Given the description of an element on the screen output the (x, y) to click on. 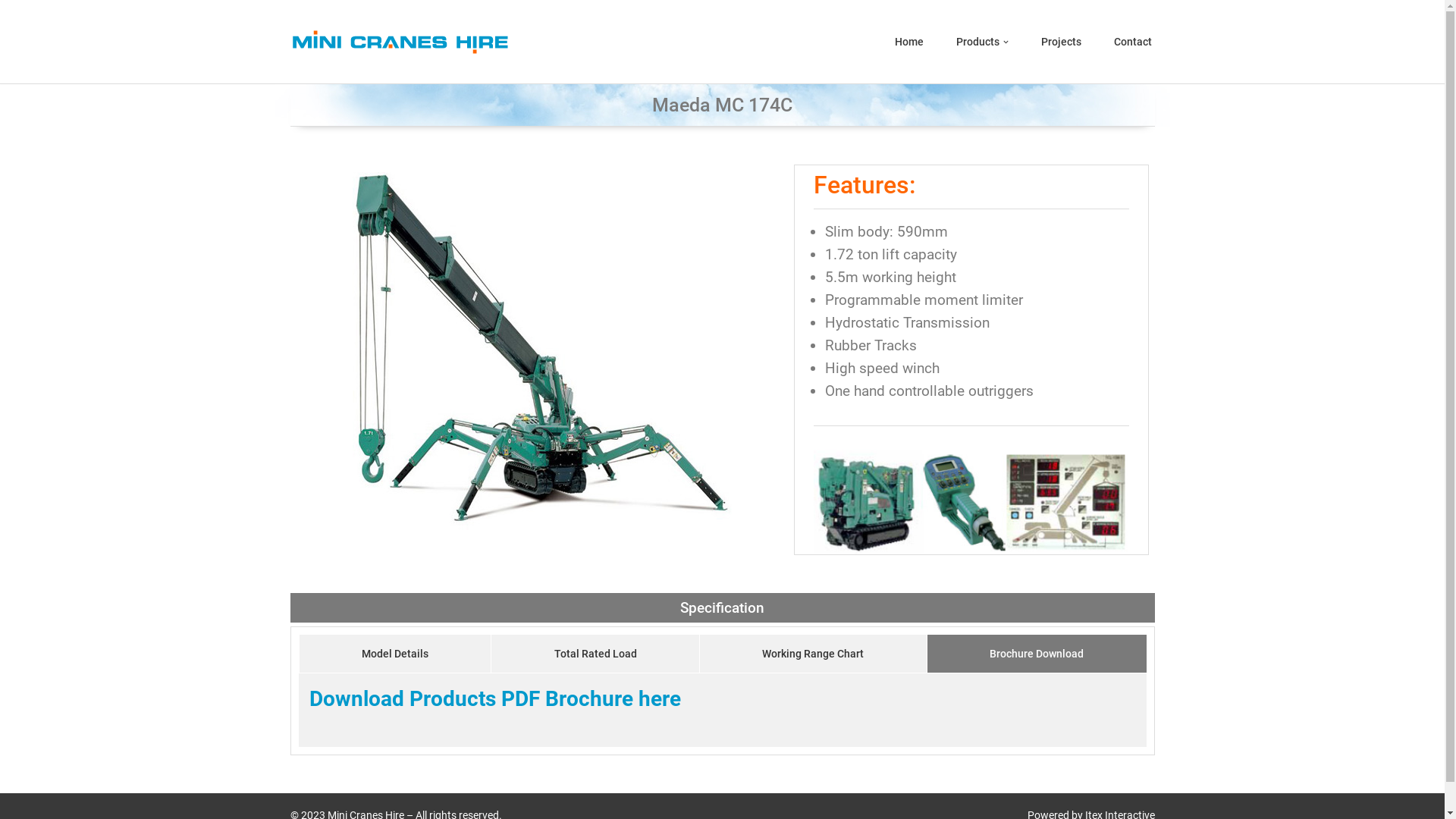
Mini Cranes Hire Element type: hover (398, 41)
Skip to content Element type: text (11, 31)
Projects Element type: text (1060, 40)
Home Element type: text (908, 40)
Products Element type: text (976, 40)
Download Products PDF Brochure here Element type: text (494, 698)
Contact Element type: text (1132, 40)
